Given the description of an element on the screen output the (x, y) to click on. 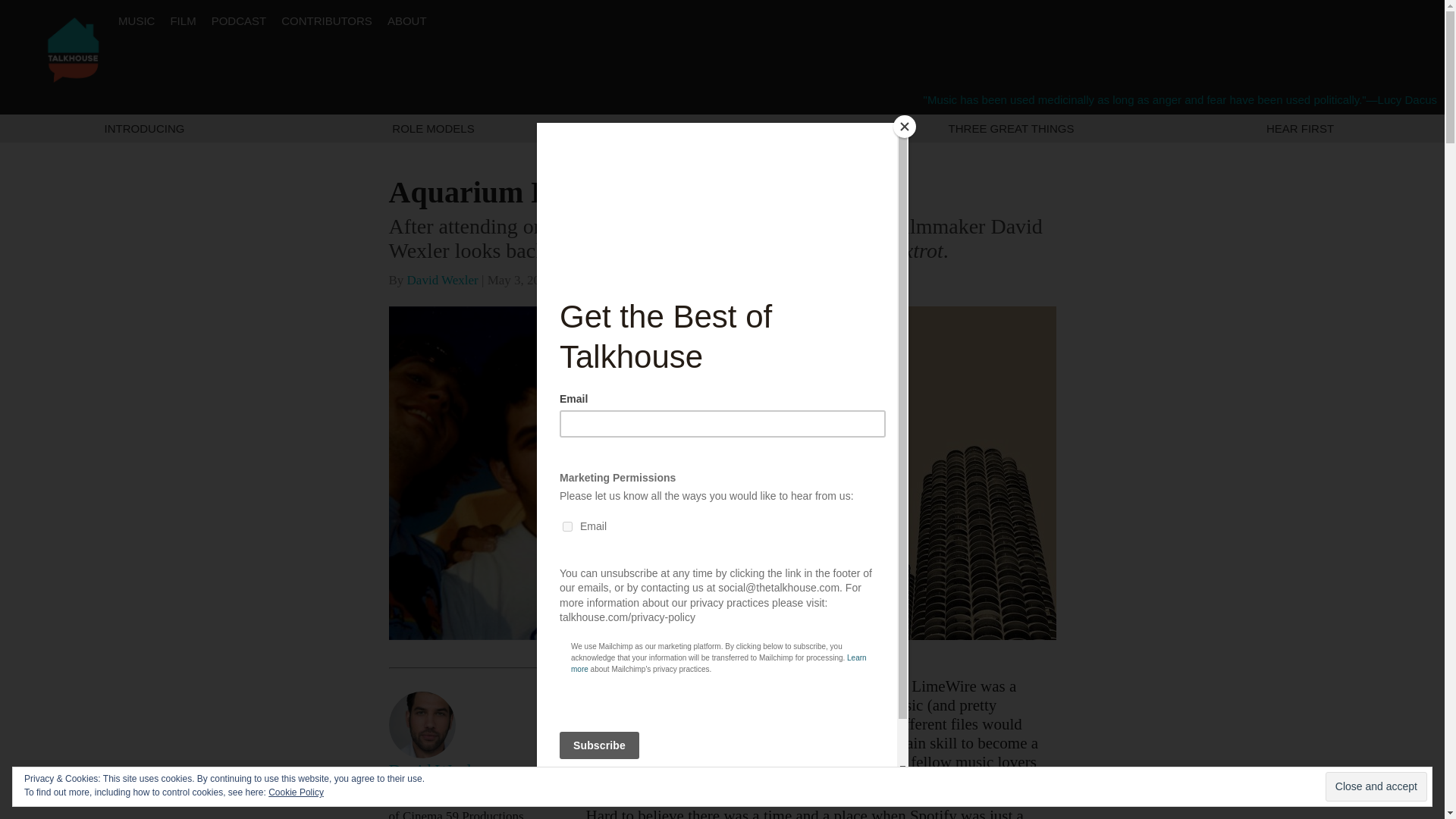
PODCAST (238, 20)
MUSIC (135, 20)
ABOUT (406, 20)
INTRODUCING (144, 128)
CONTRIBUTORS (326, 20)
FILM (182, 20)
Close and accept (1375, 786)
